Given the description of an element on the screen output the (x, y) to click on. 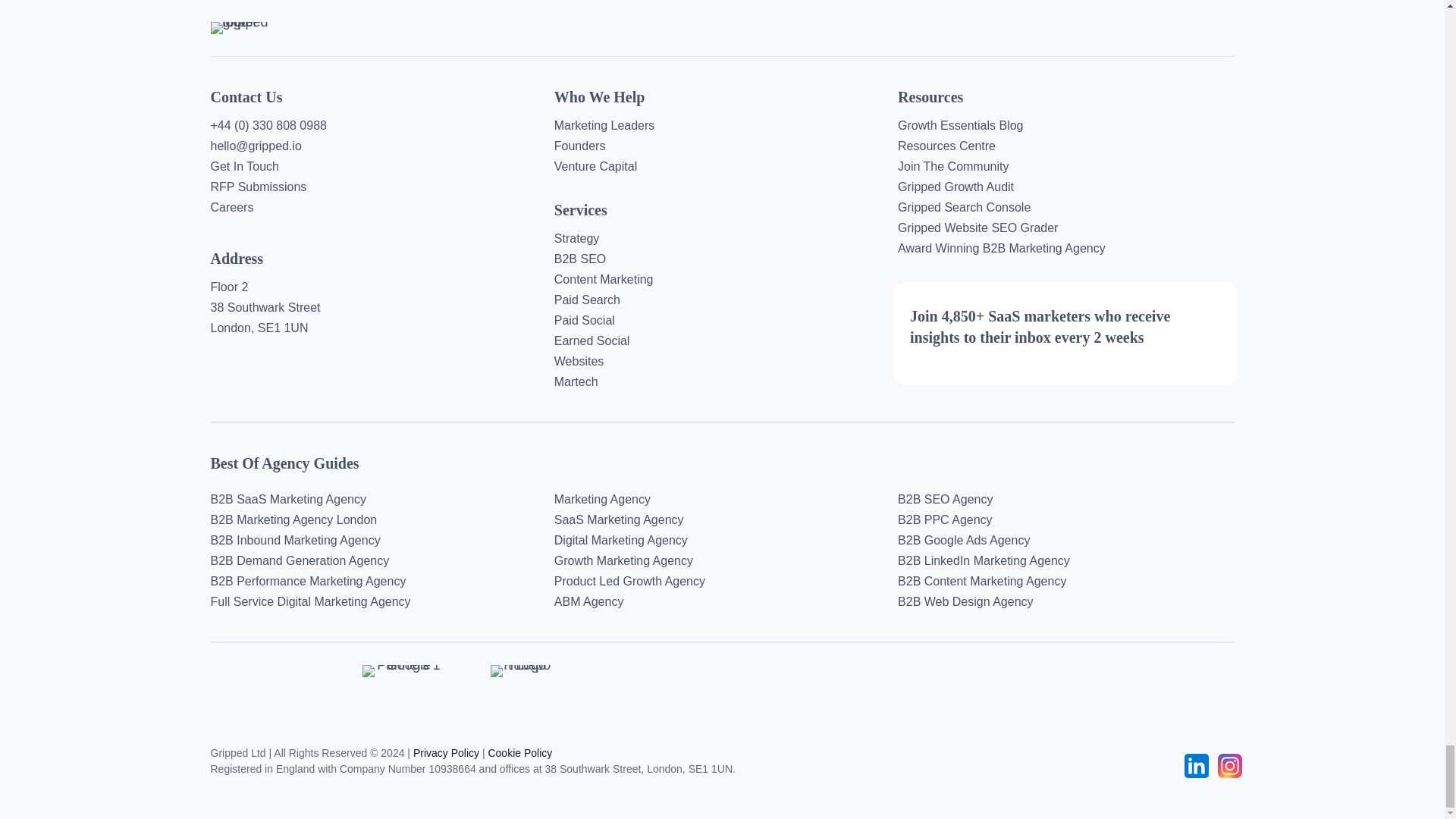
gripped logo footer (248, 28)
Hubspot Logo (520, 671)
Group 2 (1196, 765)
Google Partners 1 (402, 671)
